Given the description of an element on the screen output the (x, y) to click on. 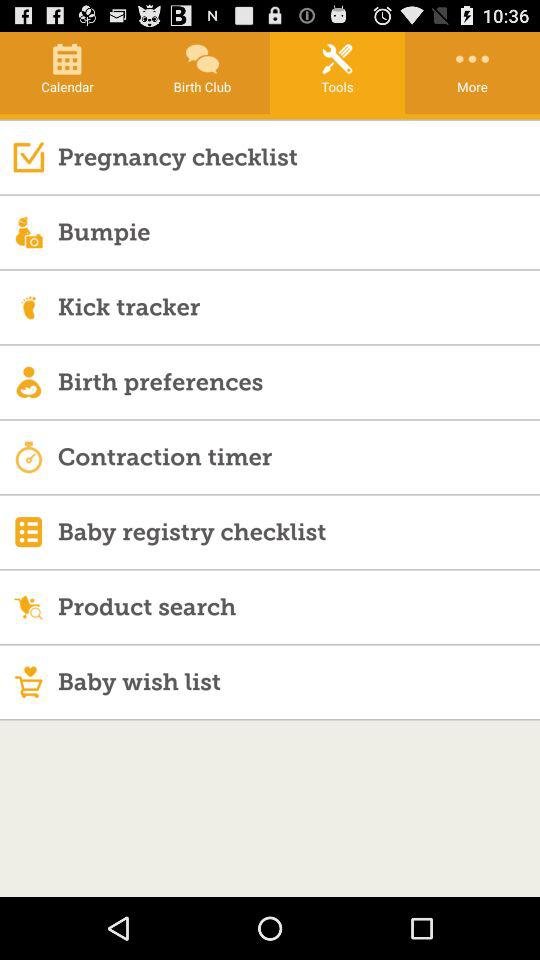
flip until the product search item (298, 606)
